Given the description of an element on the screen output the (x, y) to click on. 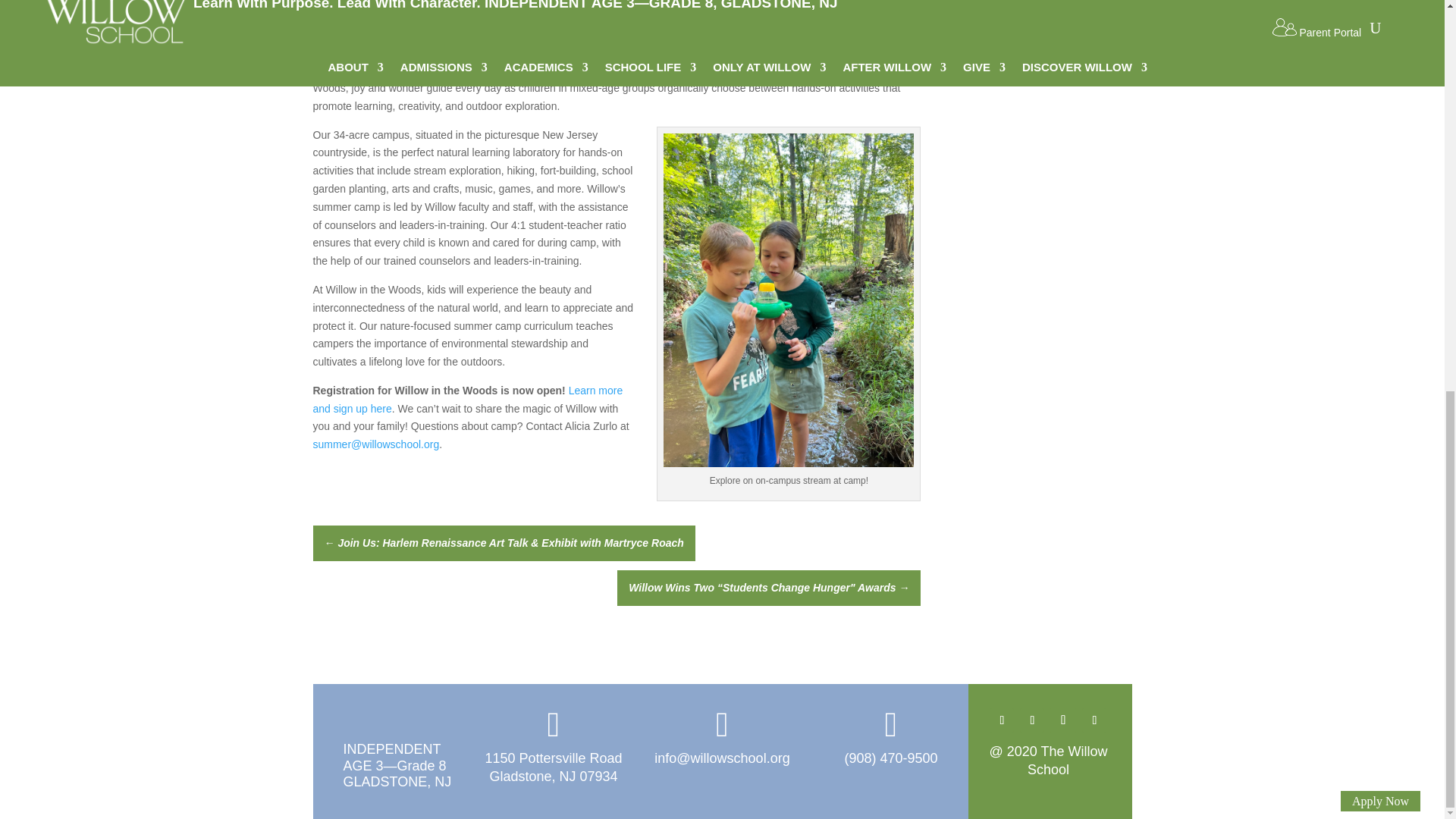
Follow on Youtube (1062, 720)
Follow on Facebook (1001, 720)
Follow on Instagram (1093, 720)
Follow on X (1031, 720)
